Given the description of an element on the screen output the (x, y) to click on. 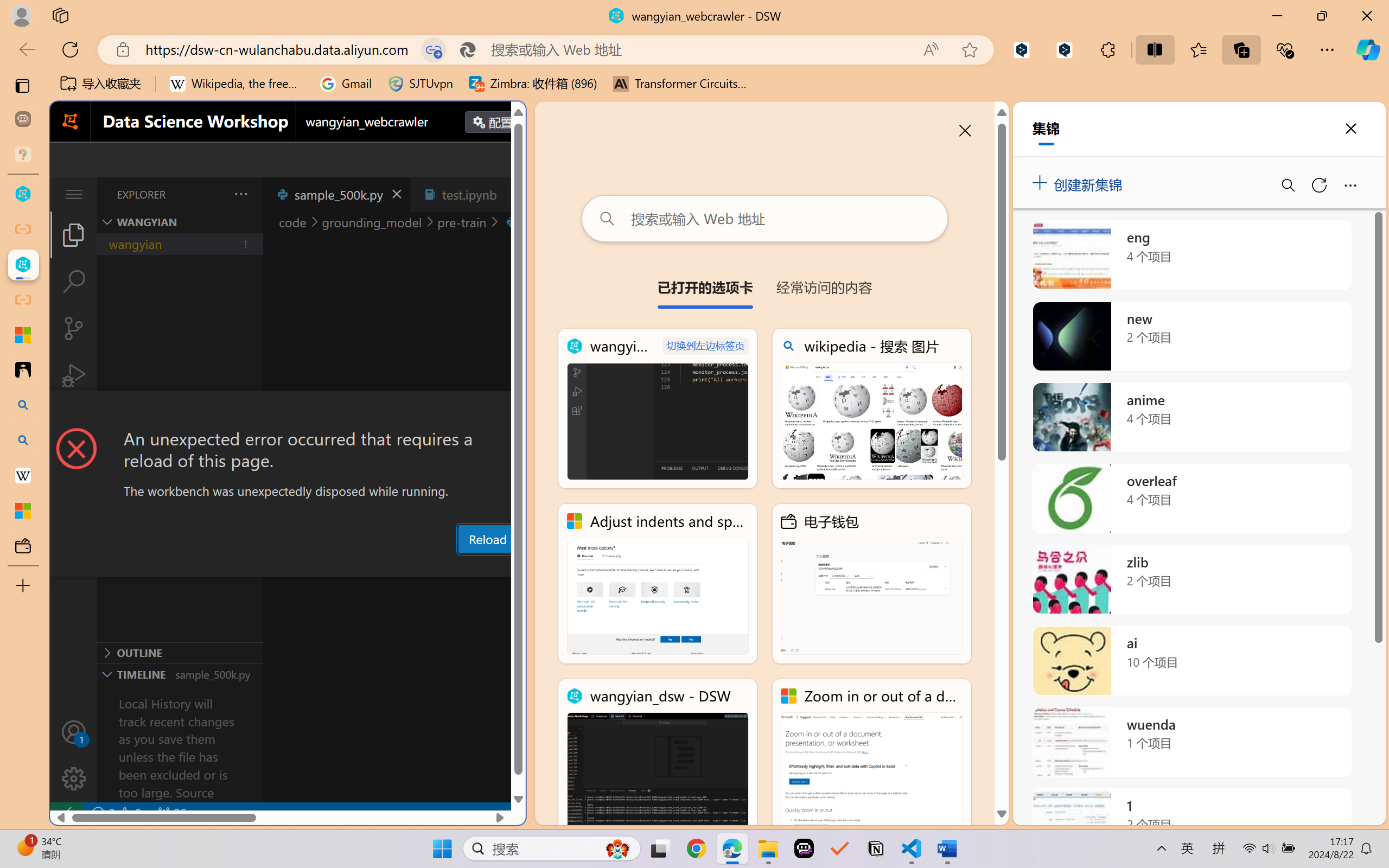
Extensions (Ctrl+Shift+X) (73, 422)
Close (Ctrl+F4) (512, 194)
No Problems (115, 812)
Output (Ctrl+Shift+U) (377, 565)
Manage (73, 778)
